Given the description of an element on the screen output the (x, y) to click on. 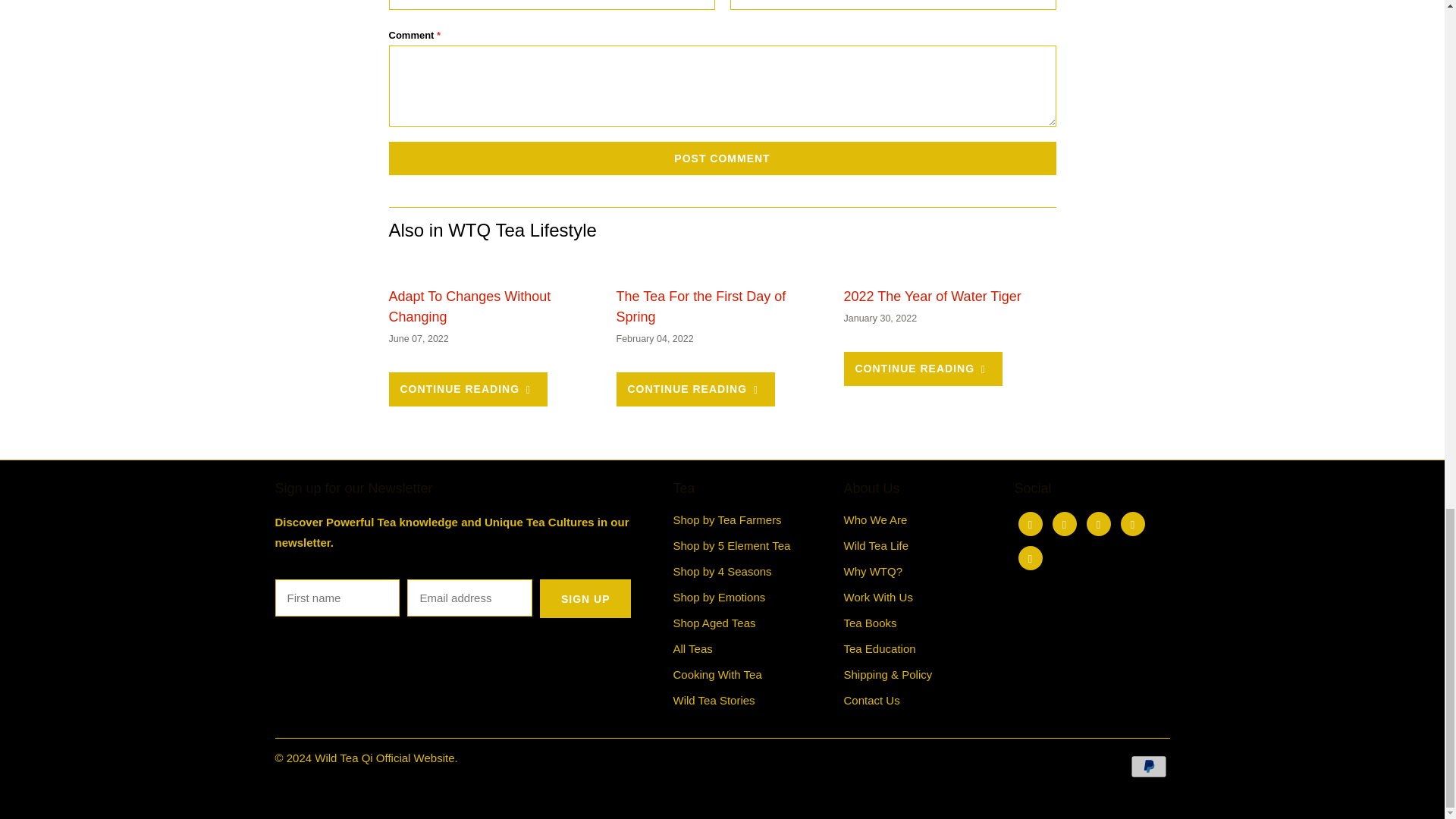
Sign Up (585, 598)
Post comment (721, 158)
The Tea For the First Day of Spring (700, 306)
The Tea For the First Day of Spring (721, 263)
Adapt To Changes Without Changing (493, 263)
PayPal (1149, 766)
Adapt To Changes Without Changing (469, 306)
Adapt To Changes Without Changing (467, 389)
